Given the description of an element on the screen output the (x, y) to click on. 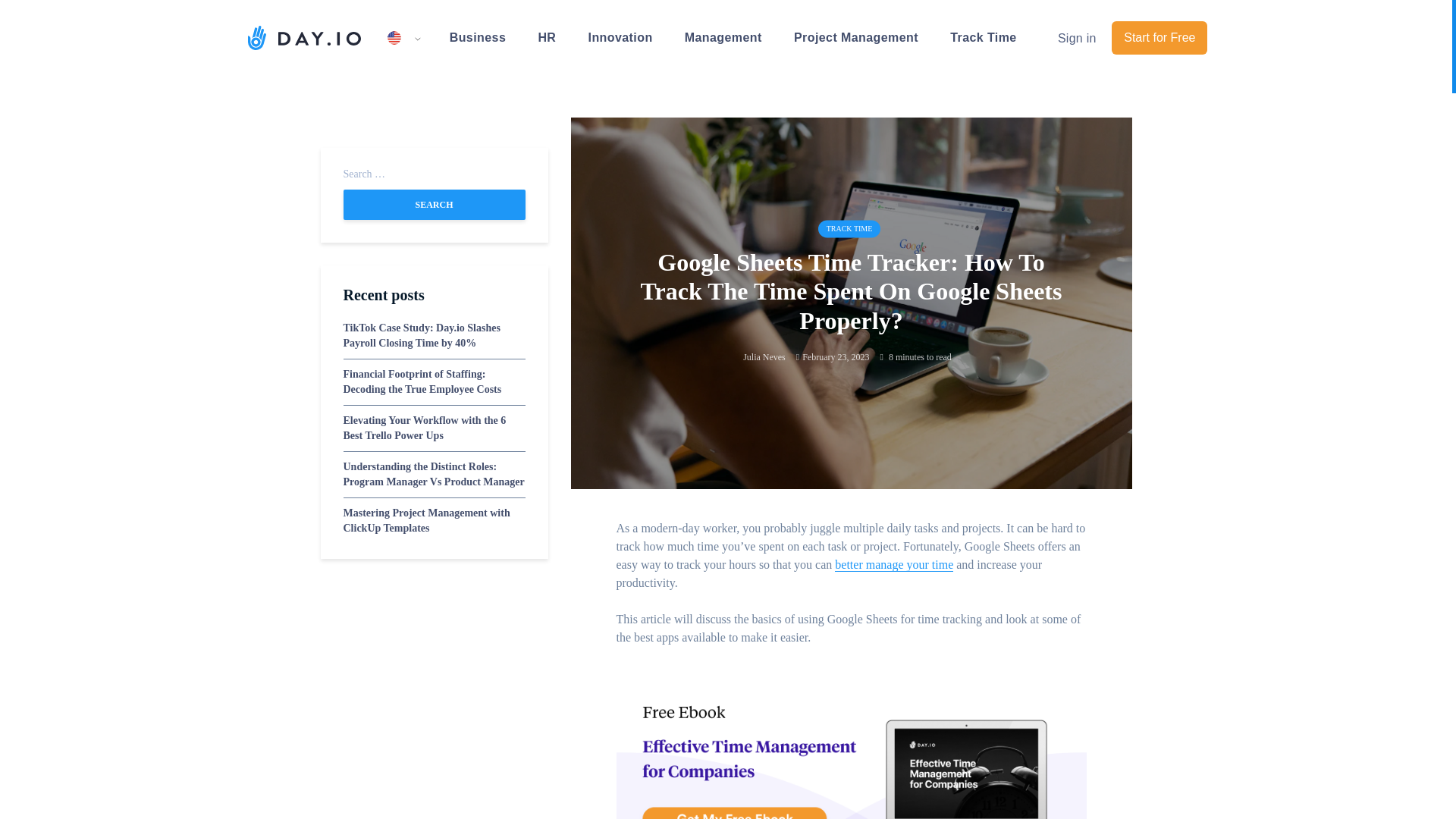
Mastering Project Management with ClickUp Templates (425, 519)
Search for: (433, 174)
Elevating Your Workflow with the 6 Best Trello Power Ups (423, 427)
Start for Free (1159, 37)
better manage your time (893, 564)
Business (477, 37)
Sign in (1076, 38)
Track Time (983, 37)
Search (433, 204)
Innovation (620, 37)
Julia Neves (764, 357)
Search (433, 204)
Project Management (855, 37)
TRACK TIME (849, 228)
